Given the description of an element on the screen output the (x, y) to click on. 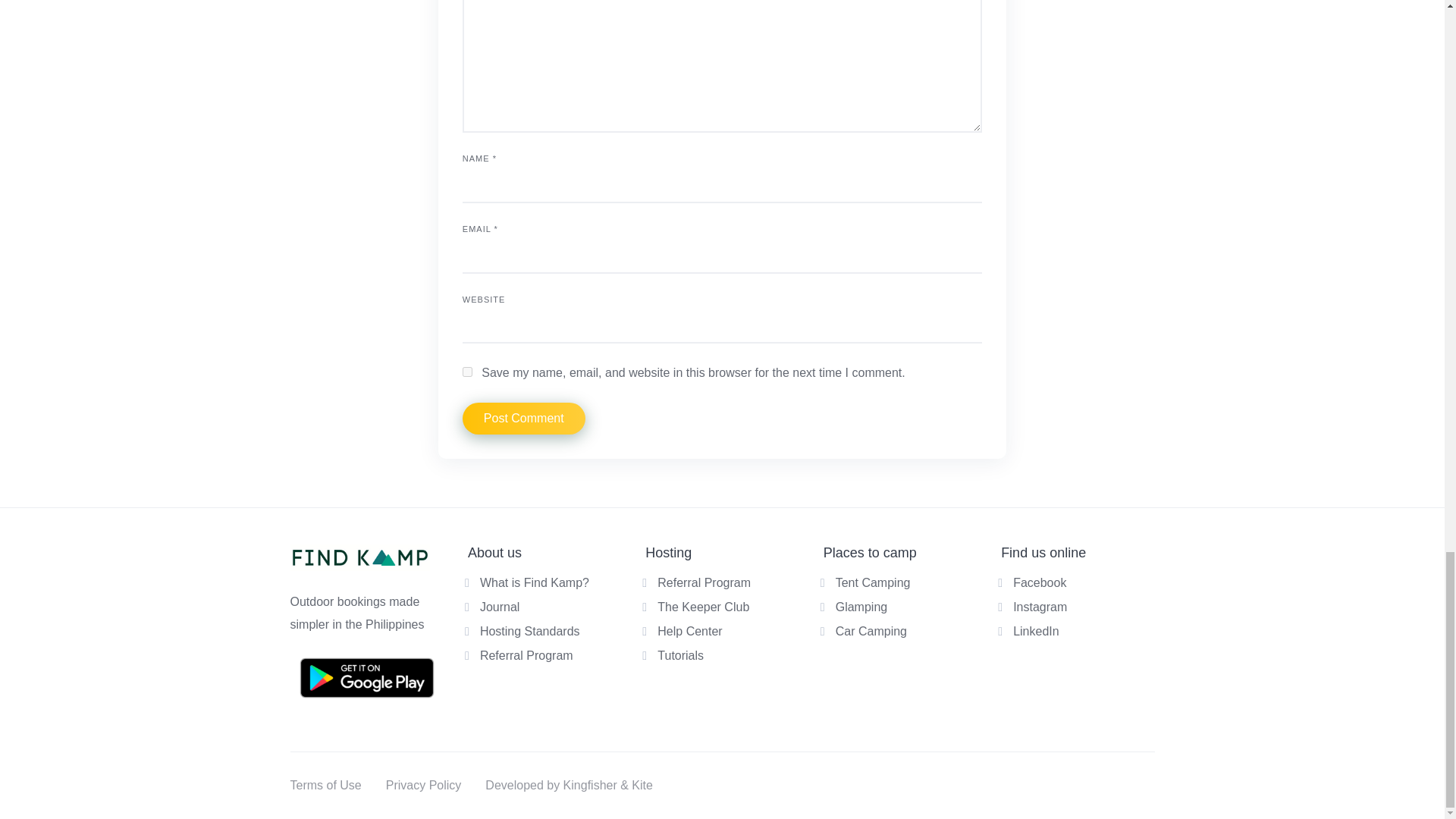
Help Center (690, 631)
Tutorials (680, 655)
Referral Program (704, 582)
Post Comment (524, 418)
The Keeper Club (703, 606)
Tent Camping (873, 582)
Instagram (1040, 606)
Car Camping (871, 631)
Glamping (860, 606)
Referral Program (526, 655)
Post Comment (524, 418)
yes (467, 371)
Hosting Standards (529, 631)
What is Find Kamp? (534, 582)
Journal (499, 606)
